Given the description of an element on the screen output the (x, y) to click on. 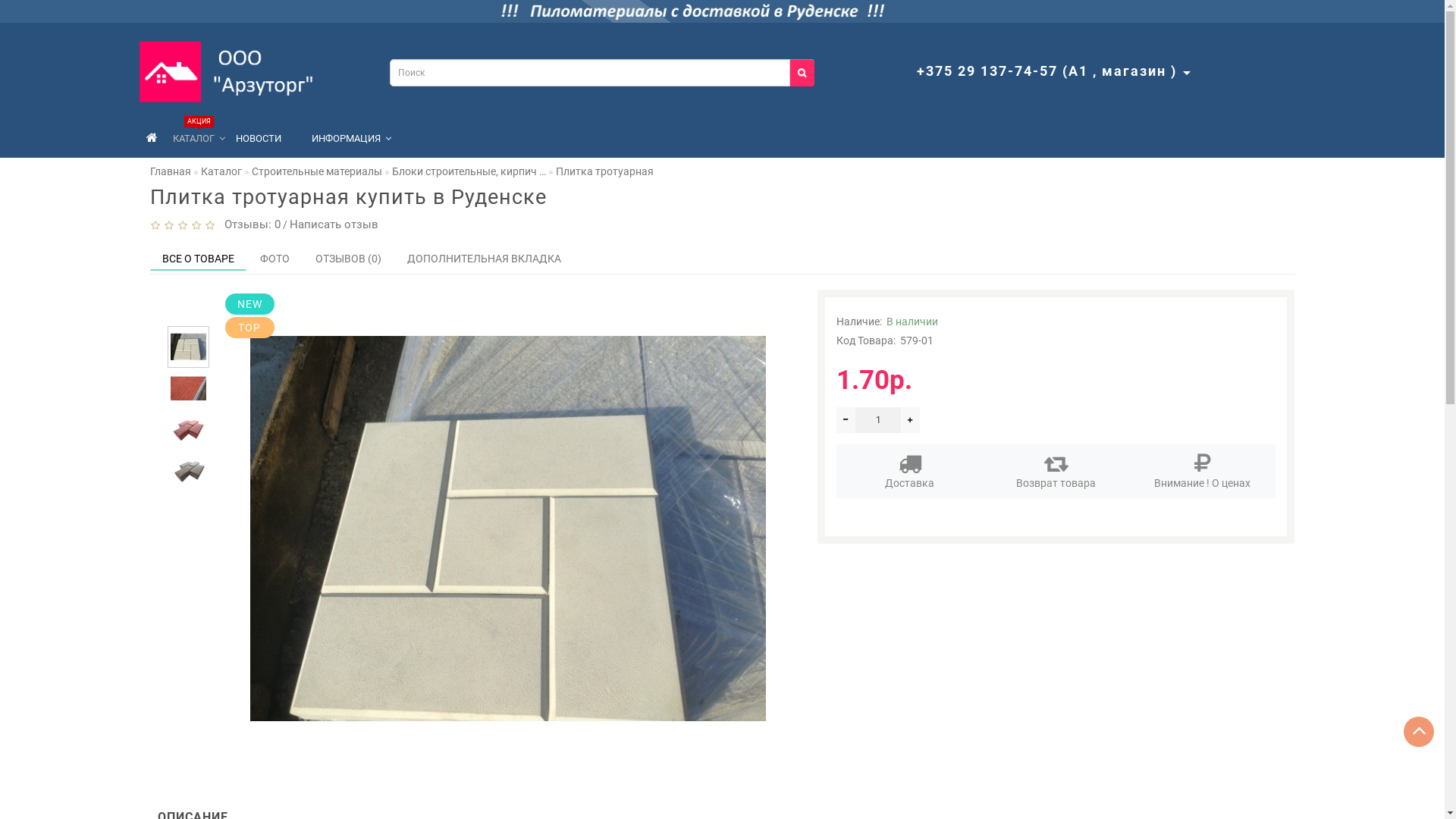
  Element type: text (845, 420)
  Element type: text (909, 420)
